Given the description of an element on the screen output the (x, y) to click on. 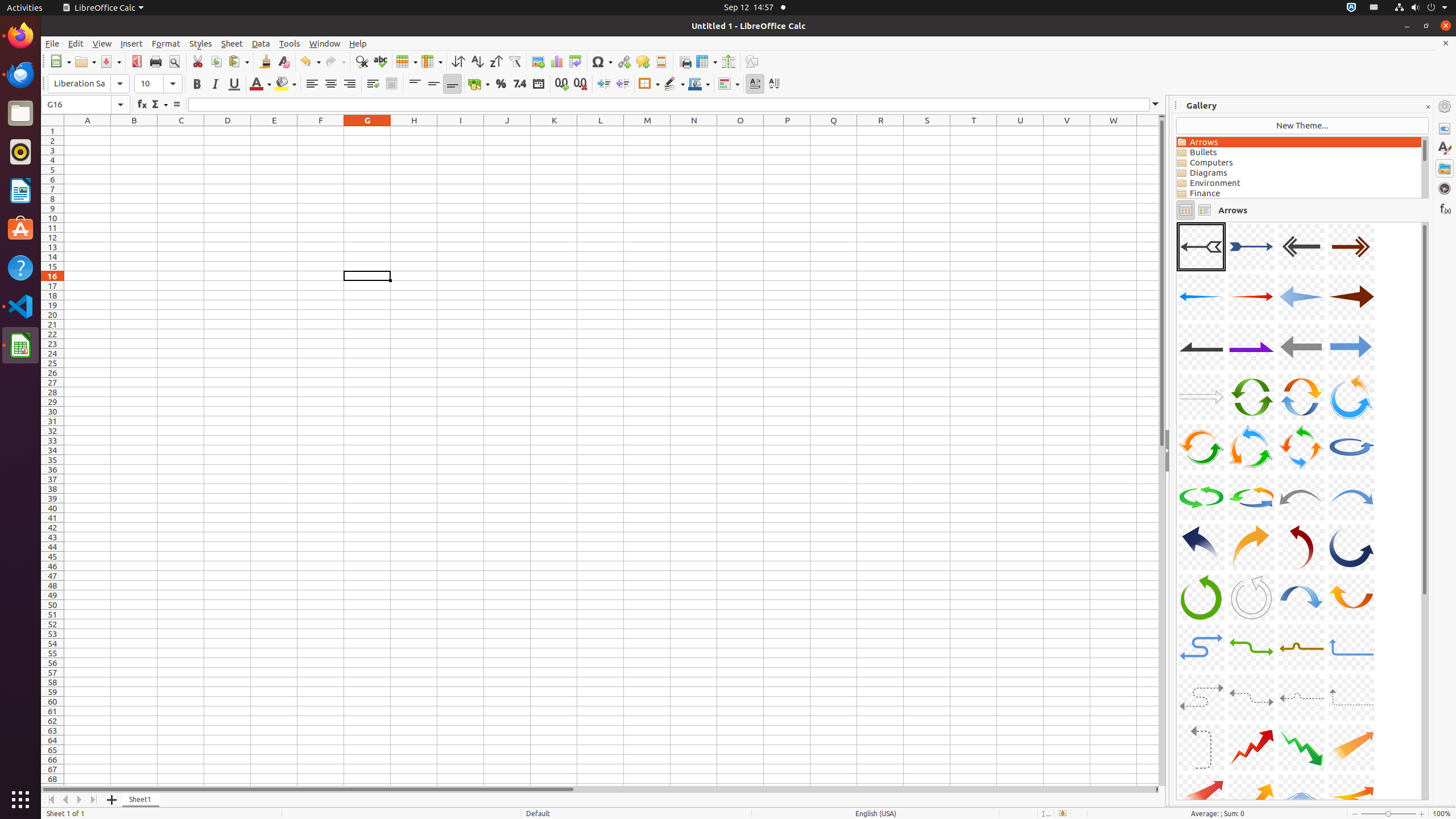
Tools Element type: menu (289, 43)
New Theme Element type: push-button (1302, 125)
LibreOffice Writer Element type: push-button (20, 190)
Data Element type: menu (260, 43)
Symbol Element type: push-button (601, 61)
